Given the description of an element on the screen output the (x, y) to click on. 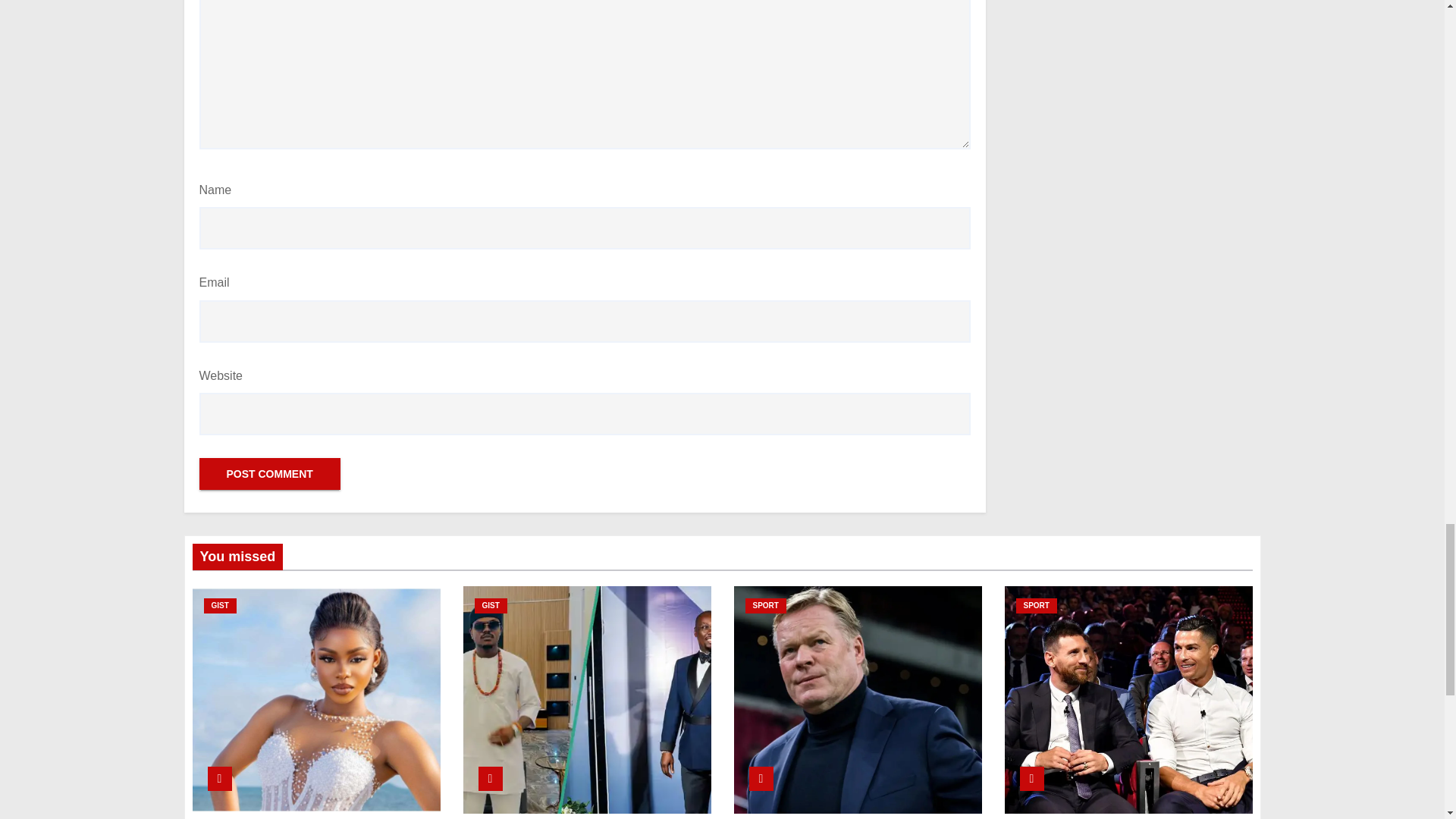
Post Comment (268, 473)
